Given the description of an element on the screen output the (x, y) to click on. 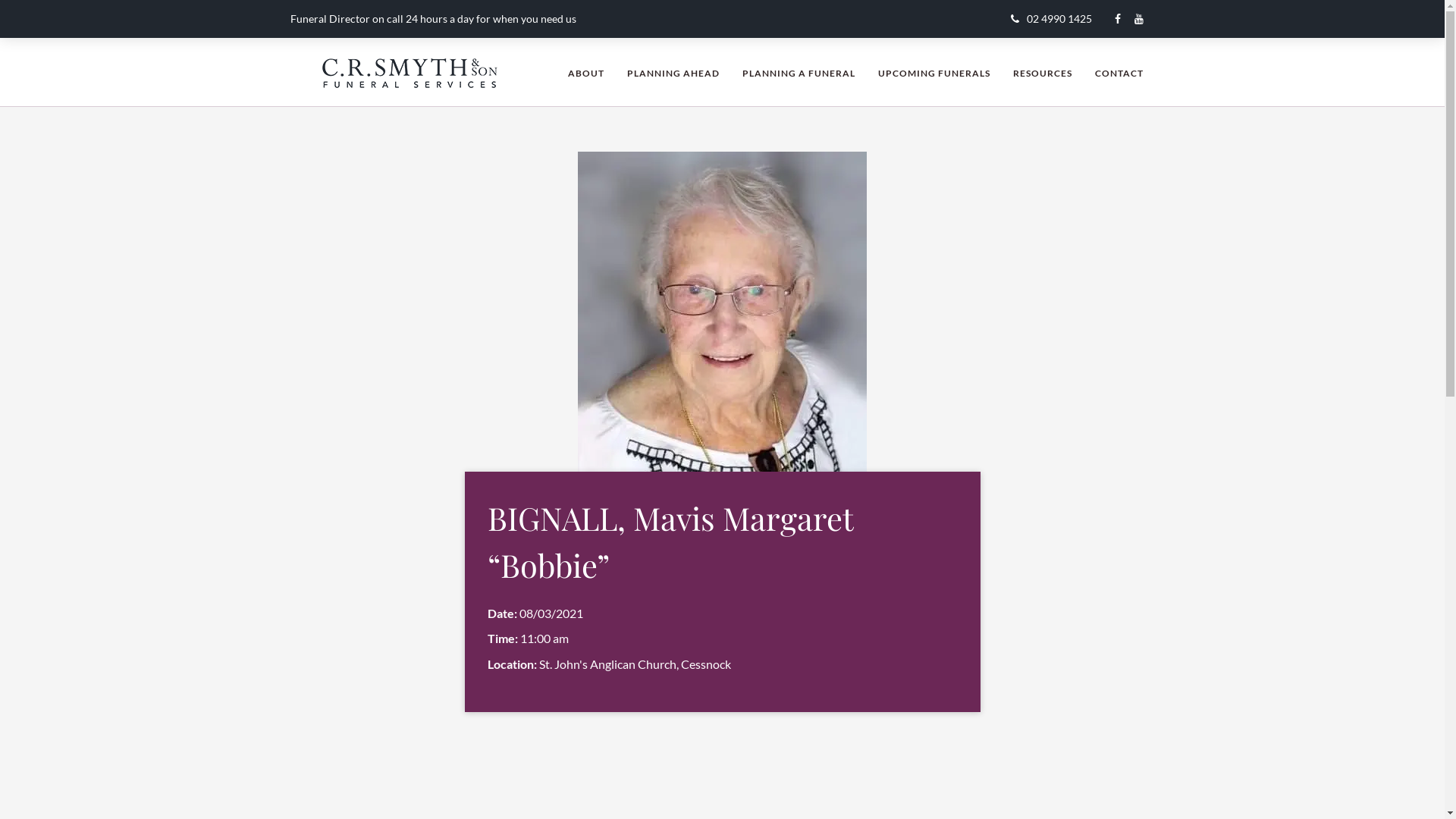
PLANNING A FUNERAL Element type: text (797, 72)
PLANNING AHEAD Element type: text (672, 72)
RESOURCES Element type: text (1042, 72)
YouTube Element type: text (1144, 18)
02 4990 1425 Element type: text (1050, 18)
St. John's Anglican Church, Cessnock Element type: text (634, 663)
ABOUT Element type: text (585, 72)
CONTACT Element type: text (1119, 72)
UPCOMING FUNERALS Element type: text (934, 72)
Facebook Element type: text (1124, 18)
Funeral Director on call 24 hours a day for when you need us Element type: text (432, 18)
